Given the description of an element on the screen output the (x, y) to click on. 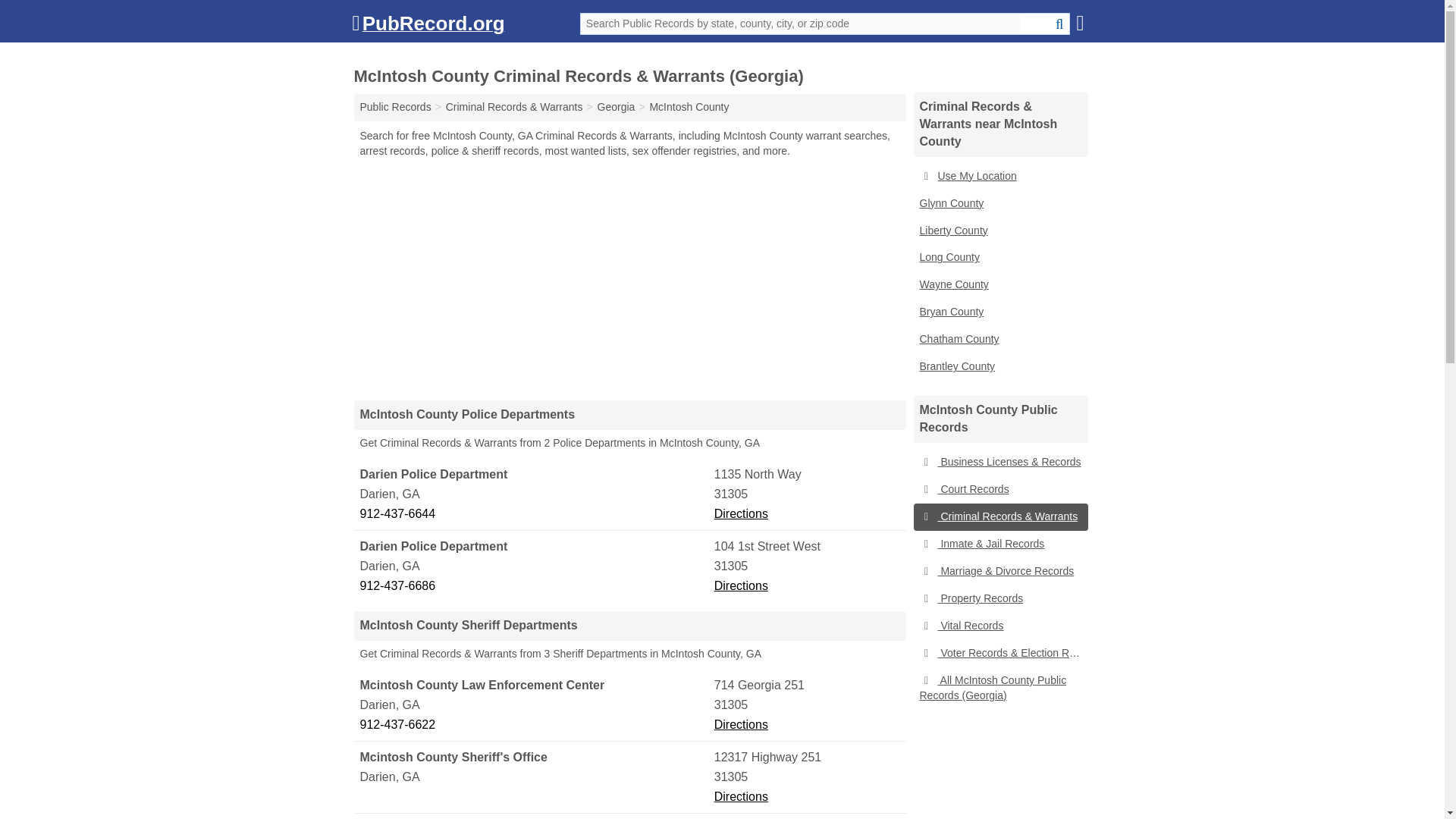
912-437-6644 (534, 514)
Directions (741, 796)
Georgia (615, 106)
912-437-6686 (534, 586)
Advertisement (629, 278)
McIntosh County (689, 106)
912-437-6622 (534, 724)
Public Records - PubRecords.org (394, 106)
PubRecord.org (427, 26)
Directions (741, 513)
Directions (741, 724)
PubRecord.org (427, 26)
Directions (741, 585)
Public Records (394, 106)
